Given the description of an element on the screen output the (x, y) to click on. 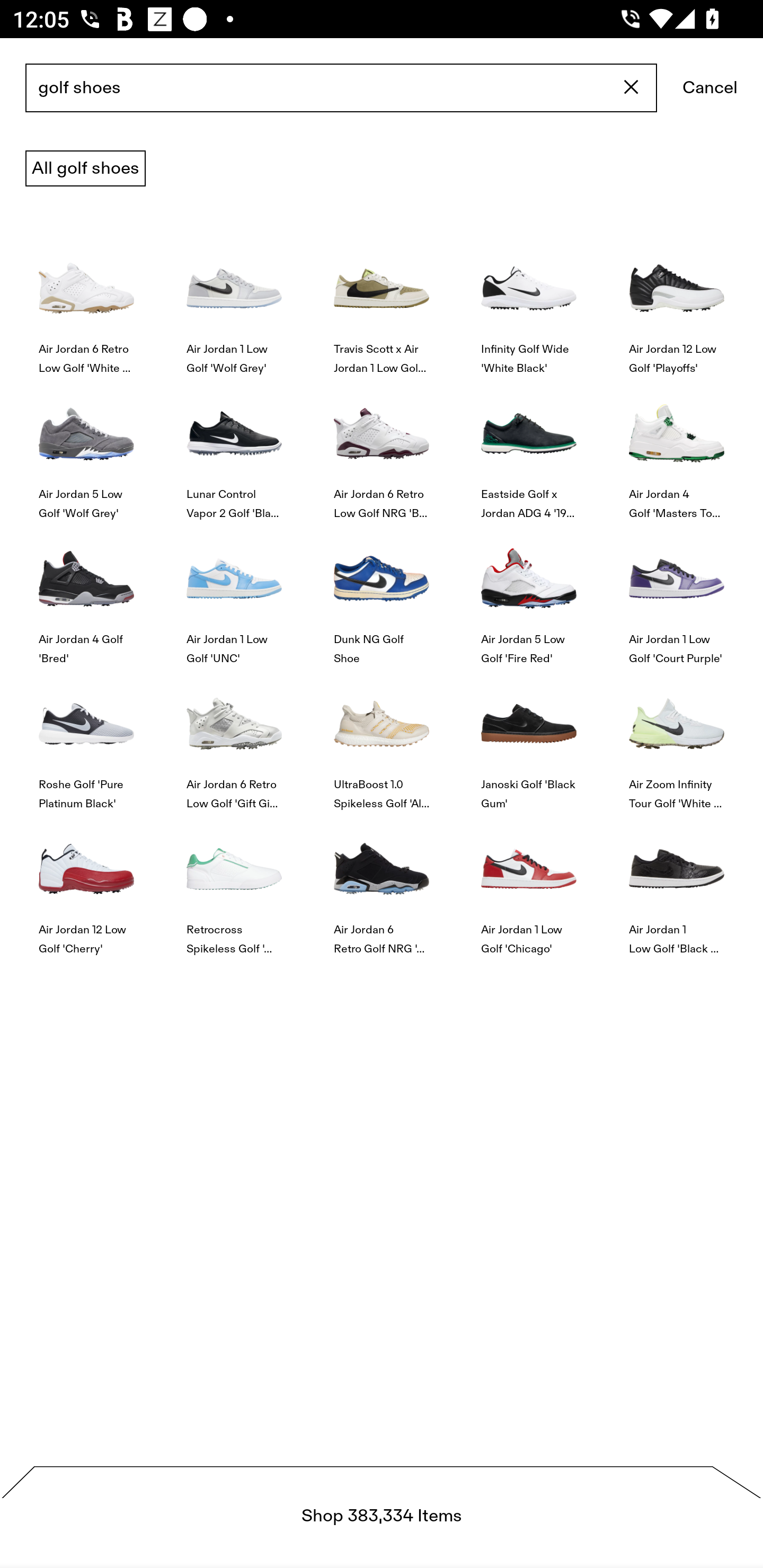
golf shoes (340, 88)
Cancel (709, 88)
Clear text (631, 87)
All golf shoes (85, 168)
Air Jordan 6 Retro Low Golf 'White Khaki' (86, 303)
Air Jordan 1 Low Golf 'Wolf Grey' (233, 303)
Infinity Golf Wide 'White Black' (528, 303)
Air Jordan 12 Low Golf 'Playoffs' (676, 303)
Air Jordan 5 Low Golf 'Wolf Grey' (86, 448)
Lunar Control Vapor 2 Golf 'Black White' (233, 448)
Air Jordan 6 Retro Low Golf NRG 'Bordeaux' (381, 448)
Eastside Golf x Jordan ADG 4 '1961' (528, 448)
Air Jordan 4 Golf 'Masters Tournament' (676, 448)
Air Jordan 4 Golf 'Bred' (86, 593)
Air Jordan 1 Low Golf 'UNC' (233, 593)
Dunk NG Golf Shoe (381, 593)
Air Jordan 5 Low Golf 'Fire Red' (528, 593)
Air Jordan 1 Low Golf 'Court Purple' (676, 593)
Roshe Golf 'Pure Platinum Black' (86, 739)
Air Jordan 6 Retro Low Golf 'Gift Giving Pack' (233, 739)
Janoski Golf 'Black Gum' (528, 739)
Air Zoom Infinity Tour Golf 'White Barely Volt' (676, 739)
Air Jordan 12 Low Golf 'Cherry' (86, 884)
Retrocross Spikeless Golf 'White Court Green' (233, 884)
Air Jordan 6 Retro Golf NRG 'Chrome' (381, 884)
Air Jordan 1 Low Golf 'Chicago' (528, 884)
Air Jordan 1 Low Golf 'Black Crocodile' (676, 884)
Shop 383,334 Items (381, 1517)
